Given the description of an element on the screen output the (x, y) to click on. 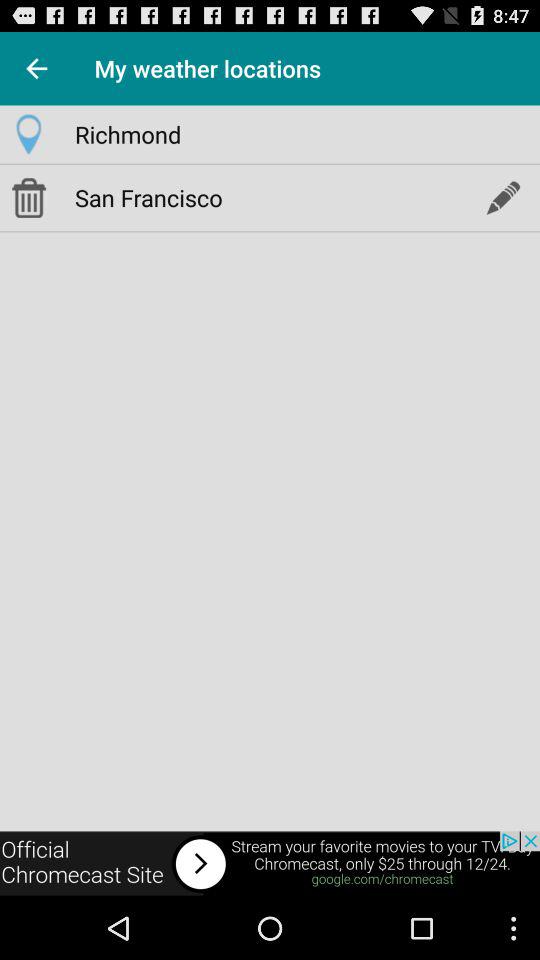
to click delete option and remove particular item (28, 197)
